Given the description of an element on the screen output the (x, y) to click on. 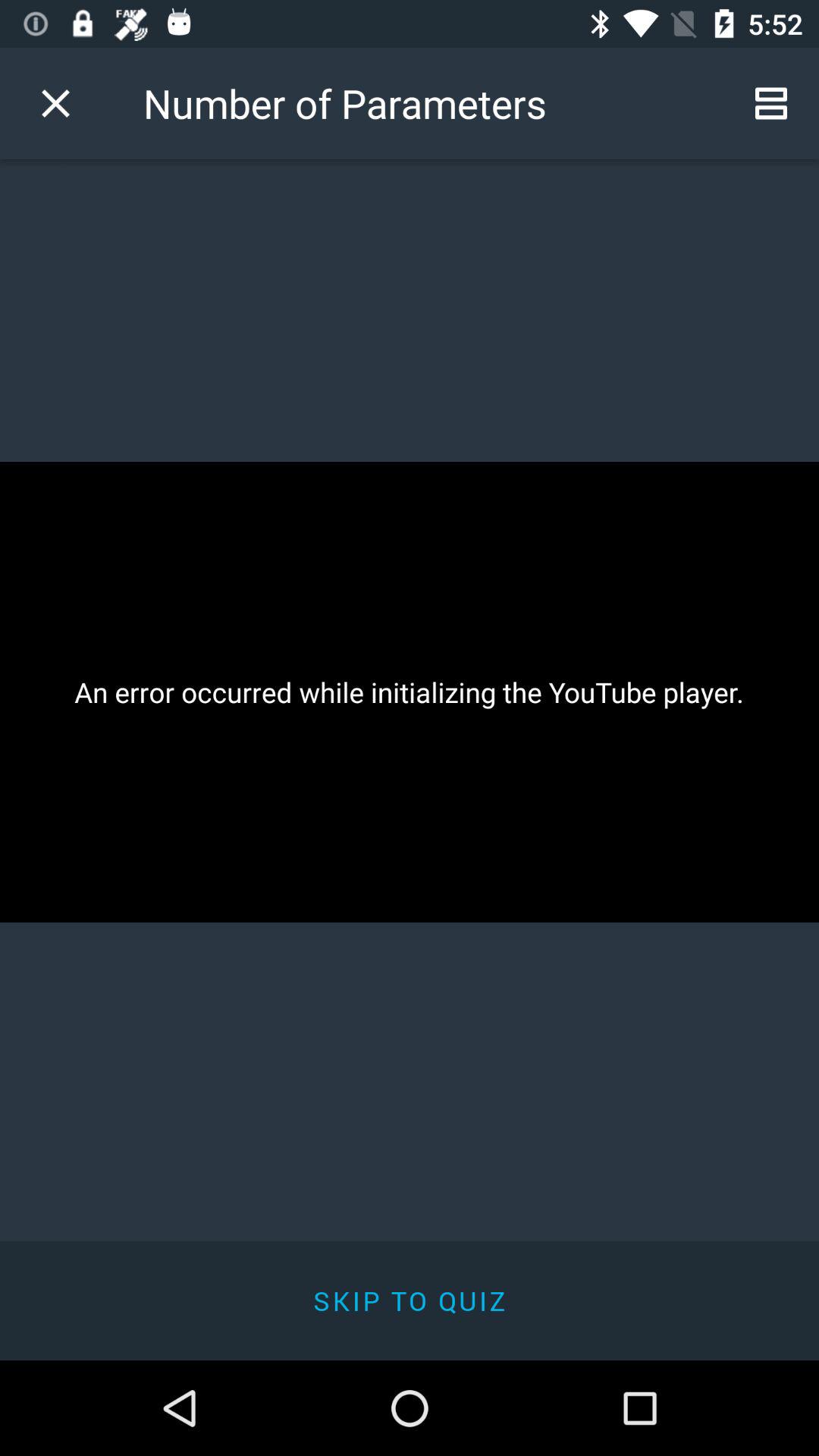
jump to skip to quiz icon (409, 1300)
